Given the description of an element on the screen output the (x, y) to click on. 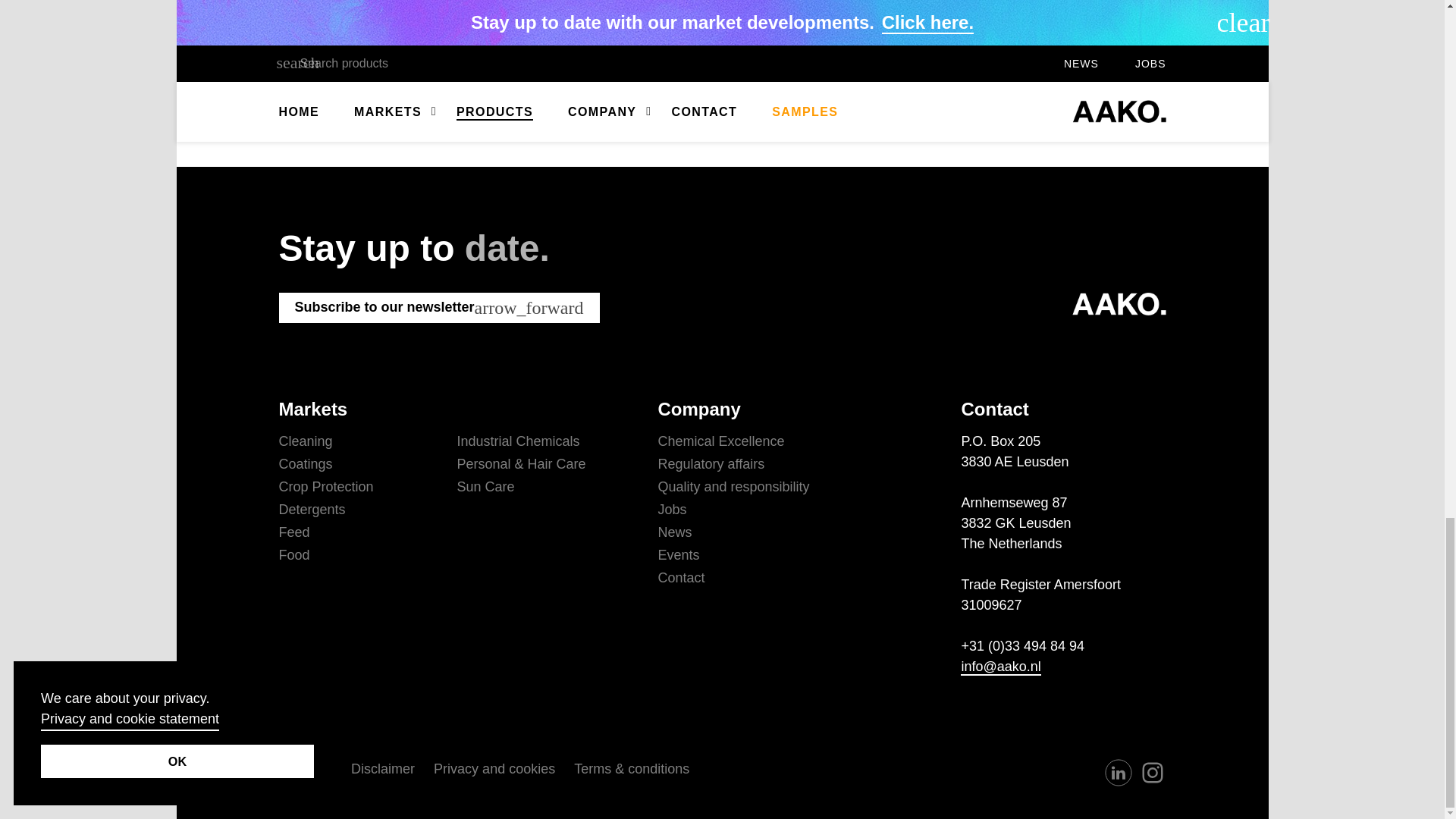
Instagram (1152, 771)
LinkedIn (1117, 771)
Email us (451, 64)
Email us (1000, 667)
